Given the description of an element on the screen output the (x, y) to click on. 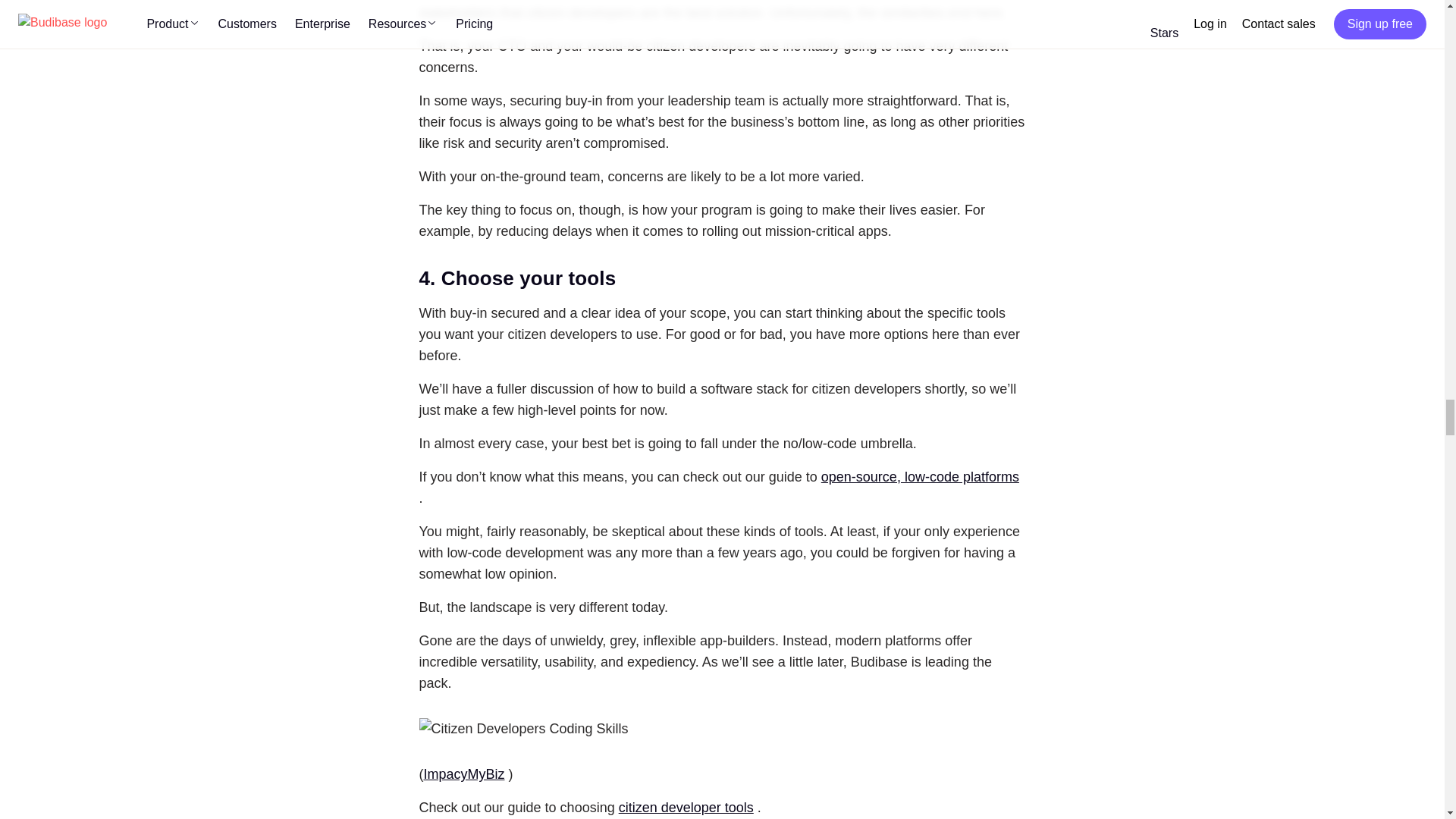
ImpacyMyBiz (463, 774)
citizen developer tools (686, 807)
Citizen Developers Coding Skills (523, 728)
open-source, low-code platforms (920, 476)
